Given the description of an element on the screen output the (x, y) to click on. 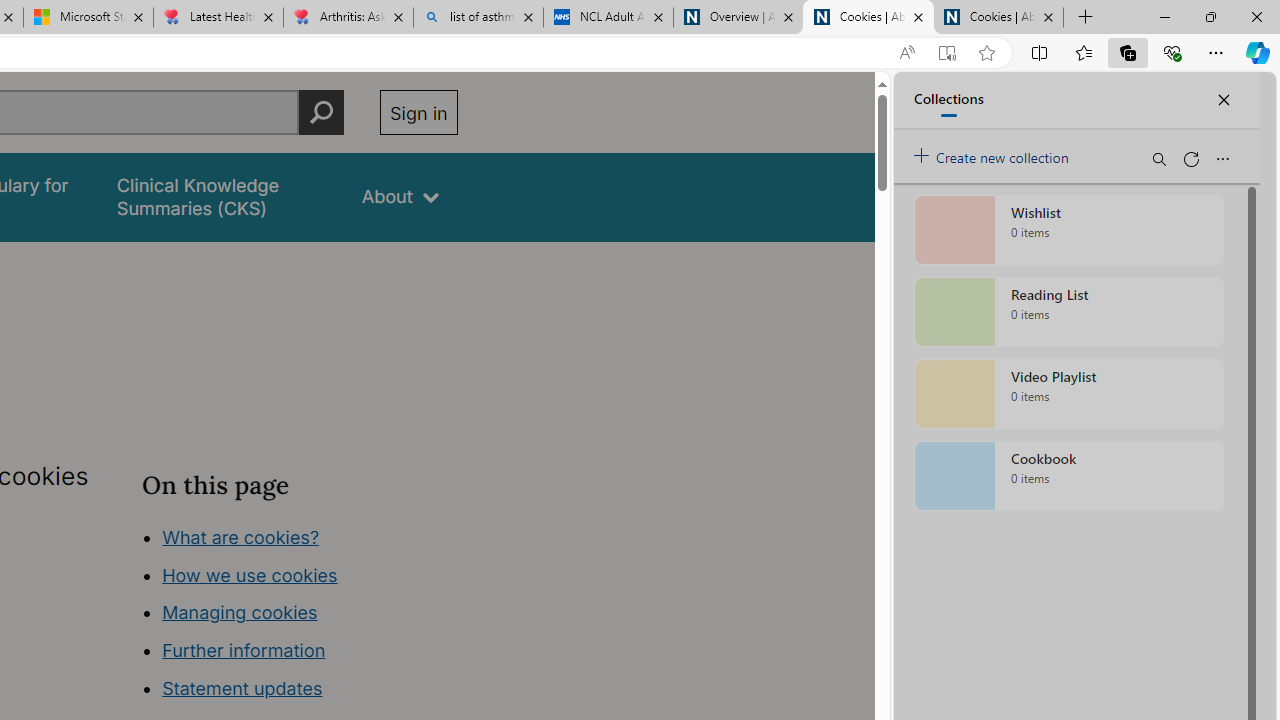
About (400, 196)
What are cookies? (241, 536)
Class: in-page-nav__list (299, 615)
Further information (244, 650)
NCL Adult Asthma Inhaler Choice Guideline (608, 17)
false (221, 196)
Enter Immersive Reader (F9) (946, 53)
Sign in (418, 112)
